Given the description of an element on the screen output the (x, y) to click on. 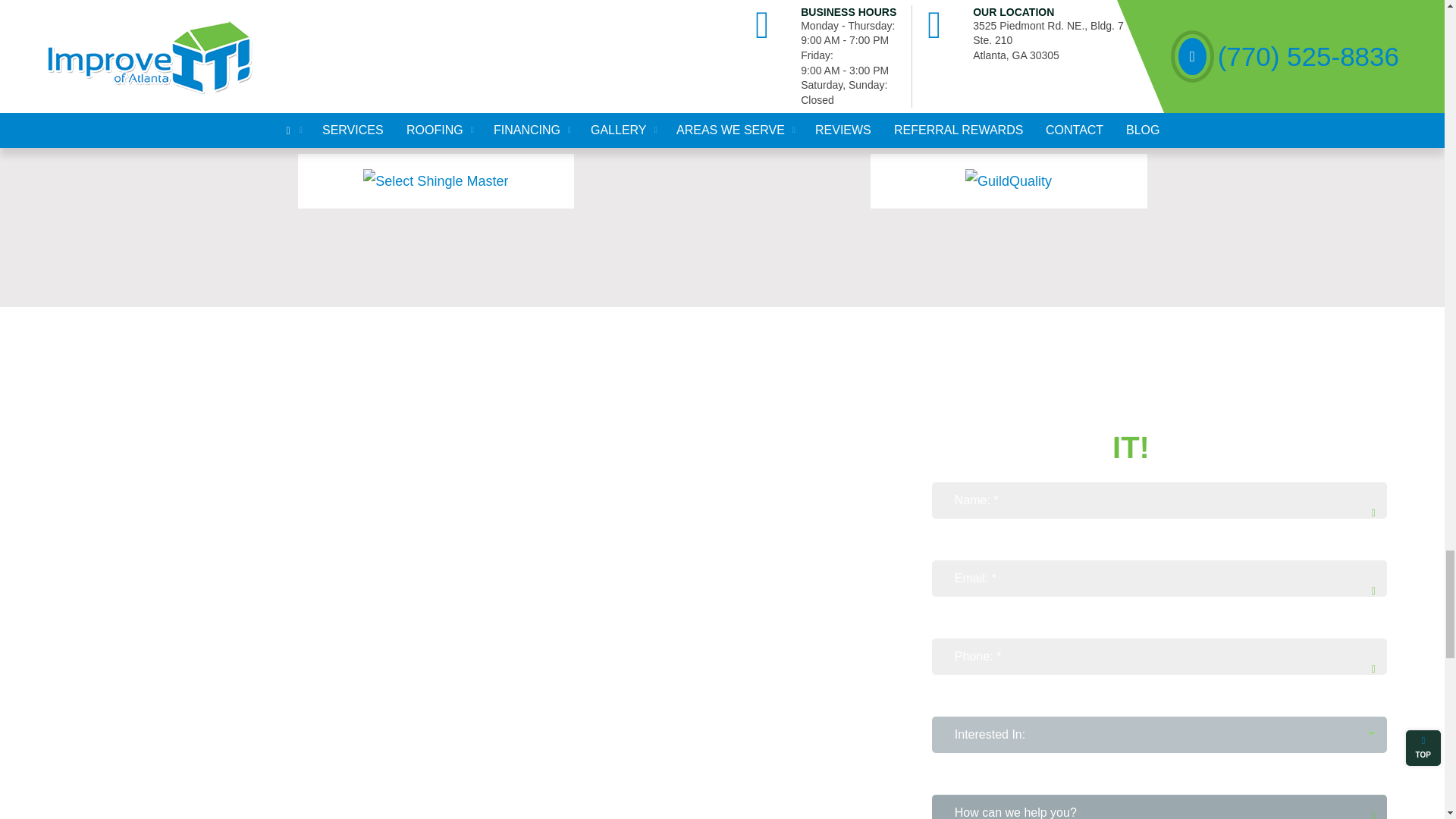
GuildQuality (1008, 180)
CertainTeed (436, 73)
Select Shingle Master (435, 180)
